Given the description of an element on the screen output the (x, y) to click on. 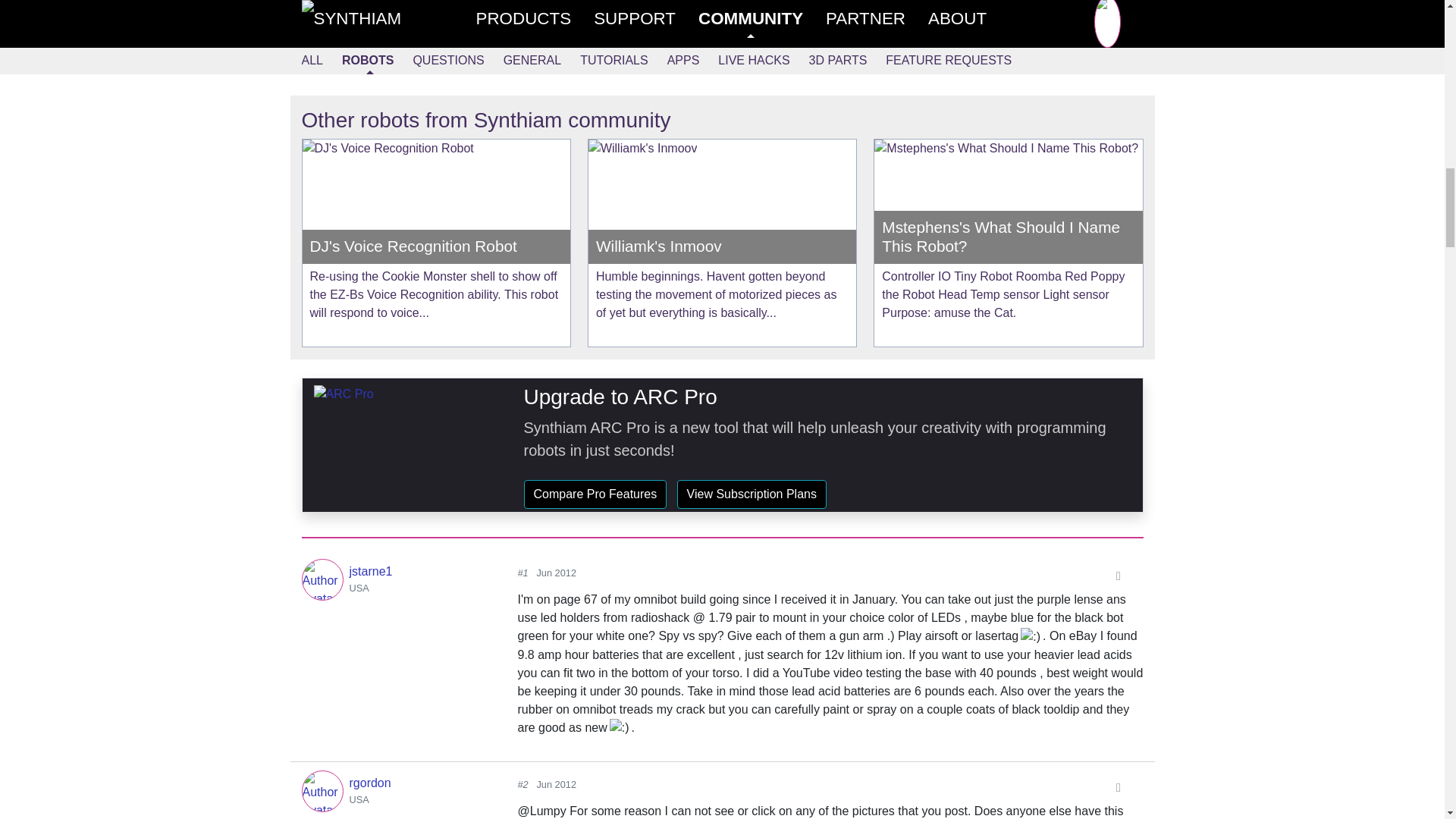
2012-06-04 23:09 UTC (692, 13)
2012-06-05 00:25 UTC (555, 572)
2012-06-05 04:53 UTC (555, 784)
2012-07-13 20:44 UTC (798, 13)
